Given the description of an element on the screen output the (x, y) to click on. 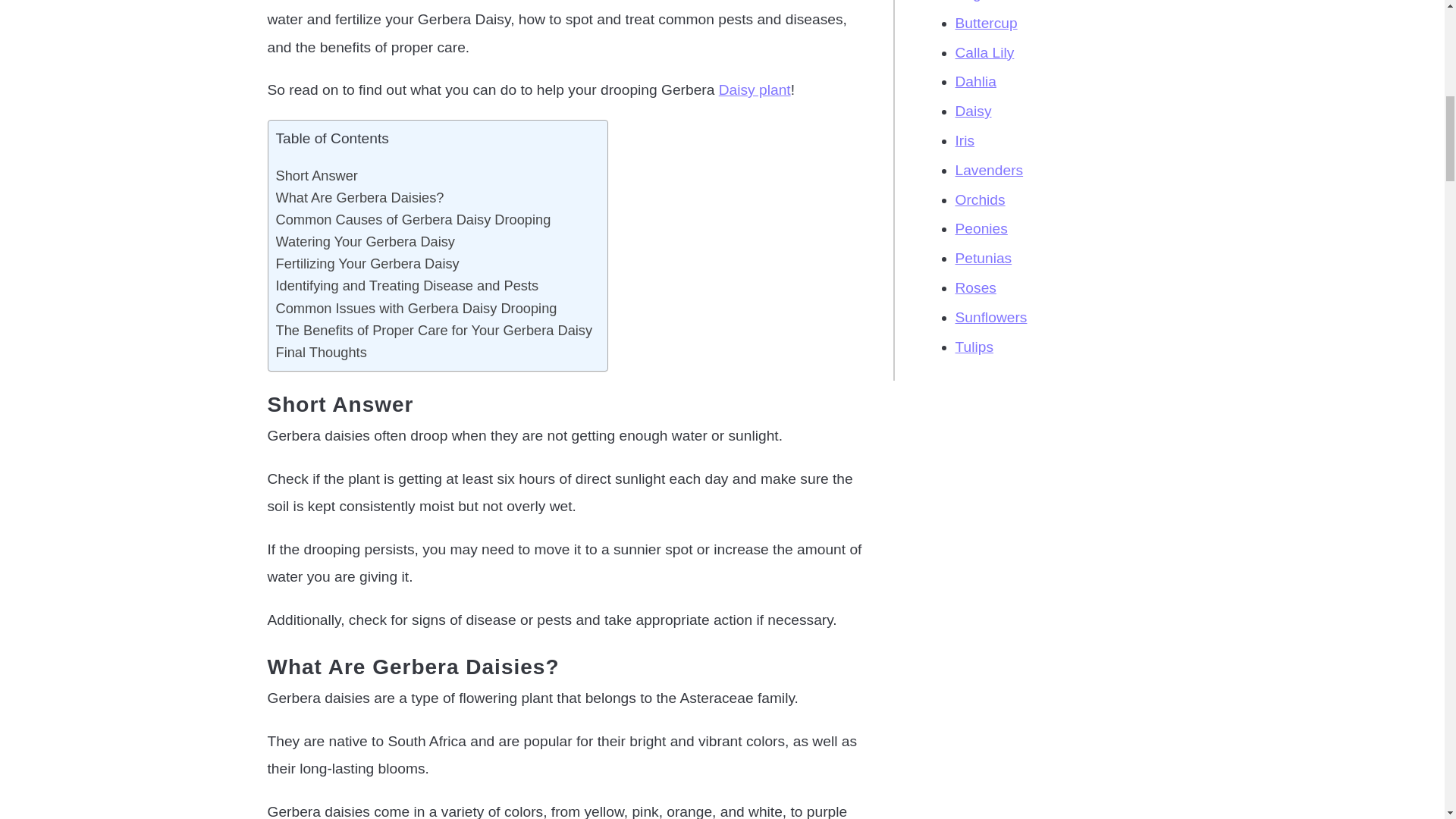
The Benefits of Proper Care for Your Gerbera Daisy (434, 330)
Short Answer (317, 174)
What Are Gerbera Daisies? (360, 197)
The Benefits of Proper Care for Your Gerbera Daisy (434, 330)
Daisy plant (754, 89)
Iris (965, 140)
Lavenders (989, 170)
Final Thoughts (321, 352)
Final Thoughts (321, 352)
Common Issues with Gerbera Daisy Drooping (416, 308)
